Given the description of an element on the screen output the (x, y) to click on. 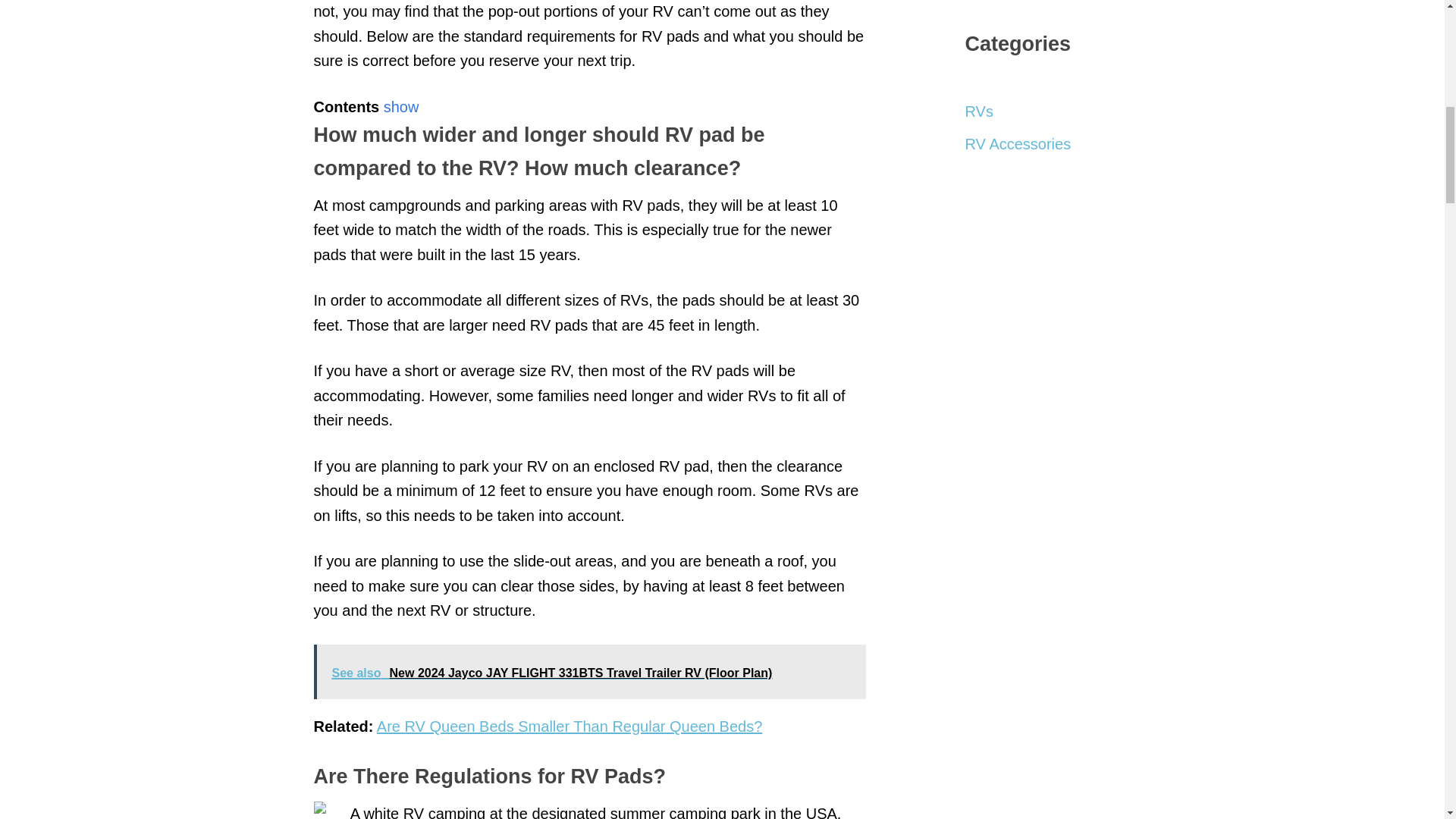
RV Accessories (1016, 143)
RVs (977, 111)
show (401, 106)
Are RV Queen Beds Smaller Than Regular Queen Beds? (569, 726)
